Given the description of an element on the screen output the (x, y) to click on. 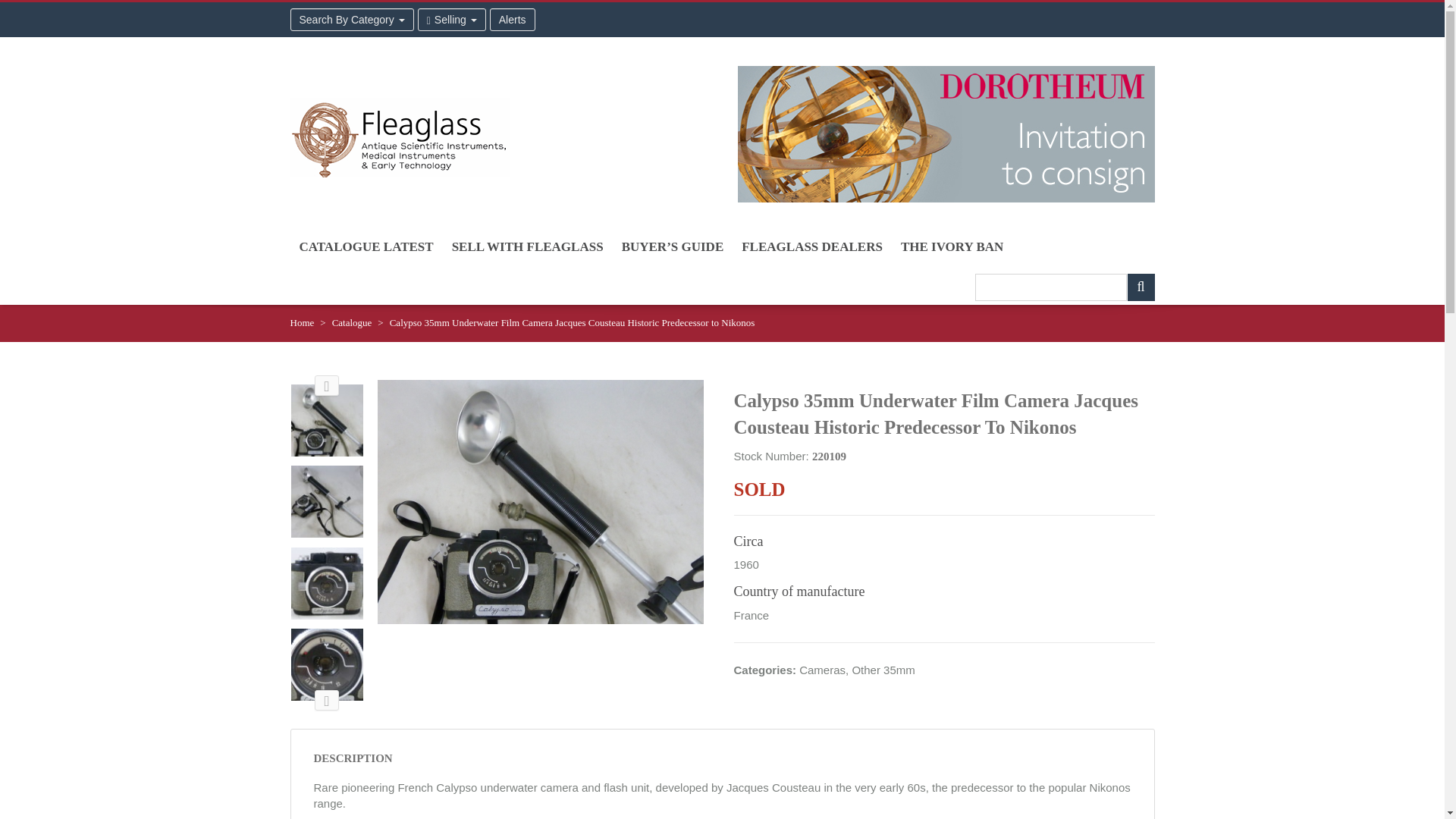
Selling (451, 19)
Alerts (512, 19)
Selling (451, 19)
Search By Category (351, 19)
SELL WITH FLEAGLASS (527, 246)
THE IVORY BAN (951, 246)
CATALOGUE LATEST (365, 246)
FLEAGLASS DEALERS (811, 246)
Search By Category (351, 19)
